Given the description of an element on the screen output the (x, y) to click on. 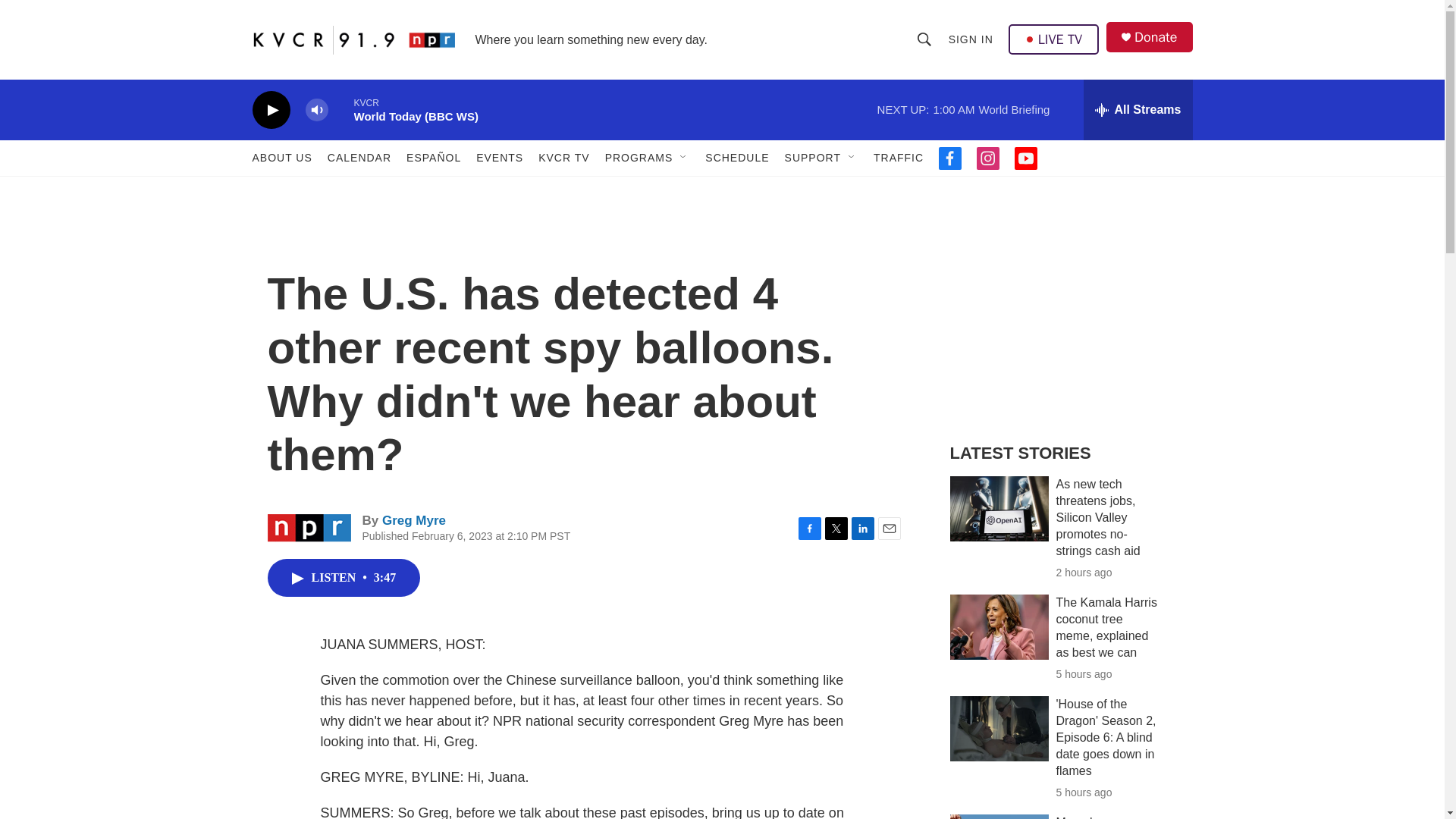
3rd party ad content (1062, 316)
